Given the description of an element on the screen output the (x, y) to click on. 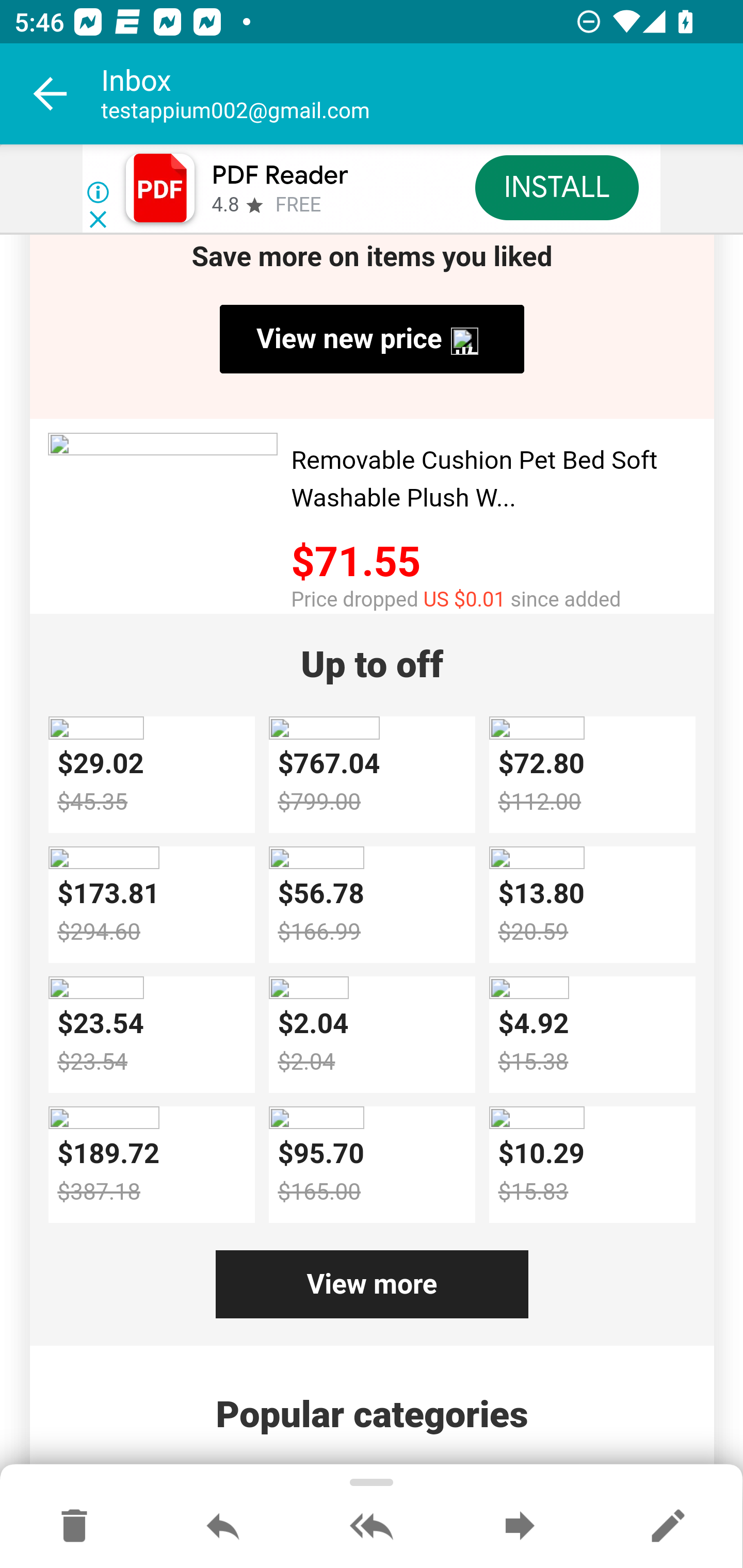
Navigate up (50, 93)
Inbox testappium002@gmail.com (422, 93)
INSTALL (556, 187)
PDF Reader (279, 175)
View new price 收藏 View new price 收藏 (371, 339)
$29.02 $45.35 data: $29.02 $45.35 (151, 775)
$767.04 $799.00 data: $767.04 $799.00 (372, 775)
$72.80 $112.00 data: $72.80 $112.00 (591, 775)
$173.81 $294.60 data: $173.81 $294.60 (151, 905)
$56.78 $166.99 data: $56.78 $166.99 (372, 905)
$13.80 $20.59 data: $13.80 $20.59 (591, 905)
$23.54 $23.54 data: $23.54 $23.54 (151, 1035)
$2.04 $2.04 data: $2.04 $2.04 (372, 1035)
$4.92 $15.38 data: $4.92 $15.38 (591, 1035)
$189.72 $387.18 data: $189.72 $387.18 (151, 1165)
$95.70 $165.00 data: $95.70 $165.00 (372, 1165)
$10.29 $15.83 data: $10.29 $15.83 (591, 1165)
View more (371, 1283)
Move to Deleted (74, 1527)
Reply (222, 1527)
Reply all (371, 1527)
Forward (519, 1527)
Reply as new (667, 1527)
